Given the description of an element on the screen output the (x, y) to click on. 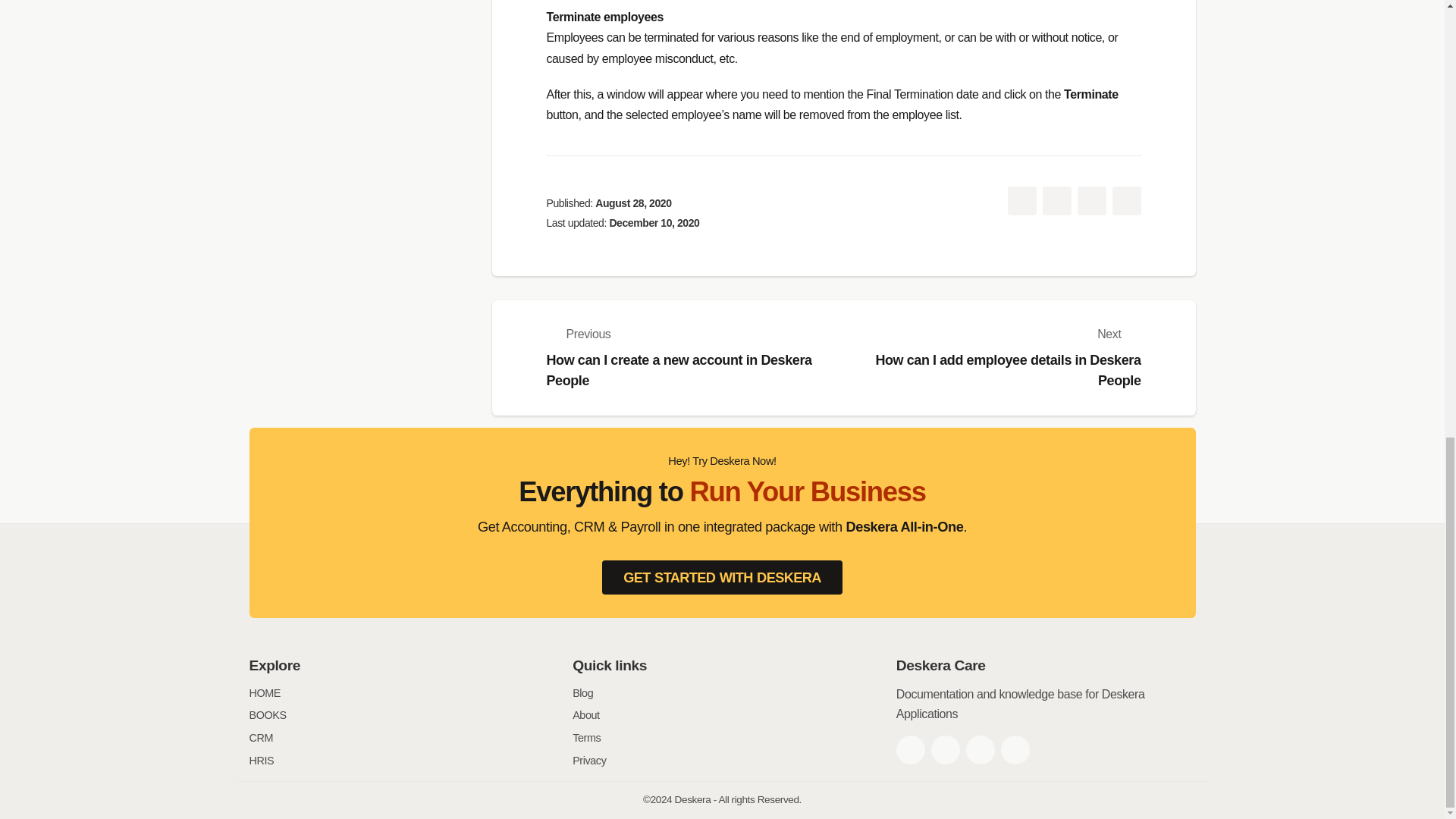
Deskera Linkedin (980, 749)
Deskera YouTube (1015, 749)
Twitter (945, 749)
Facebook (910, 749)
